Given the description of an element on the screen output the (x, y) to click on. 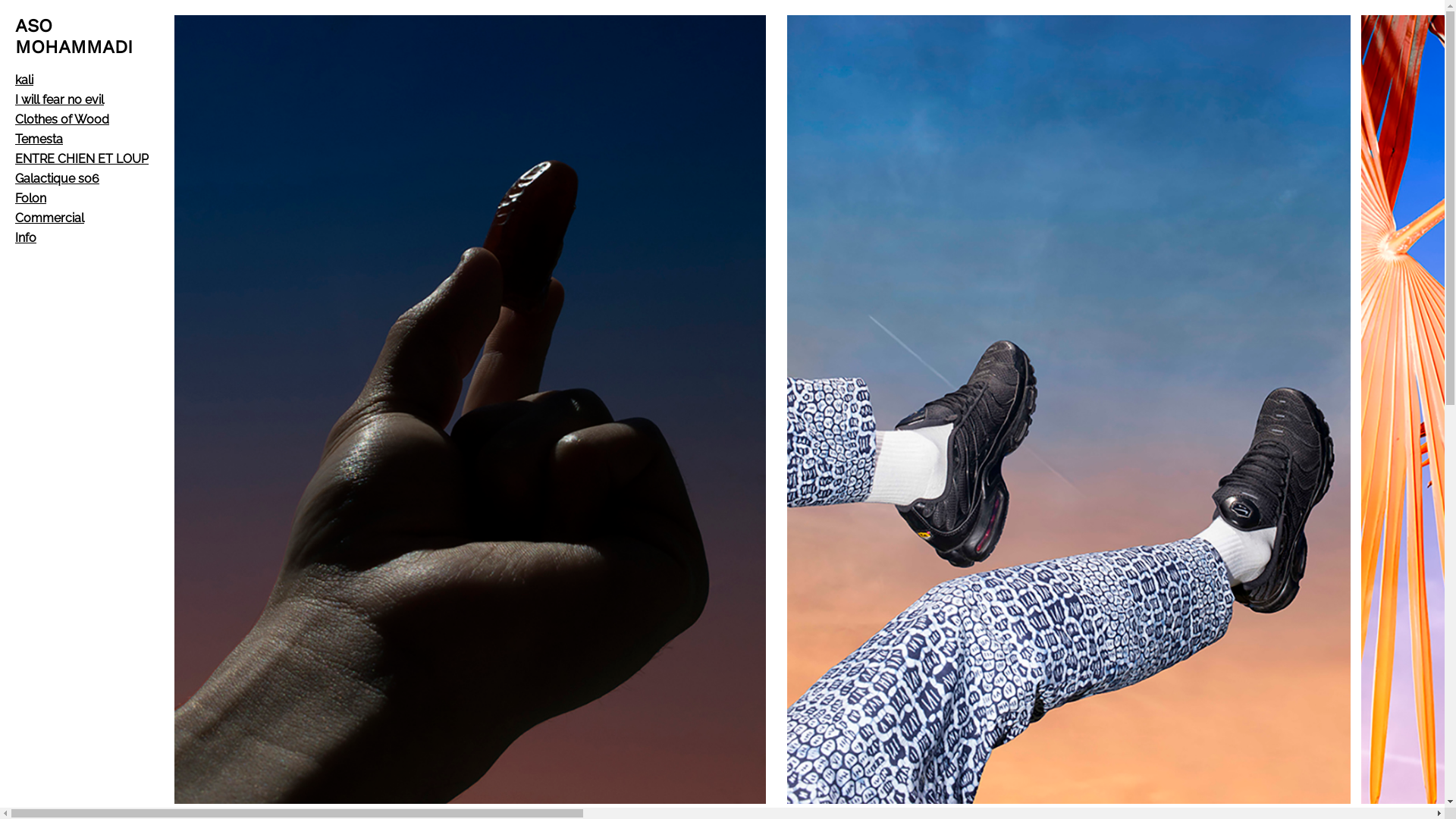
I will fear no evil Element type: text (59, 99)
ENTRE CHIEN ET LOUP Element type: text (81, 158)
Commercial Element type: text (49, 217)
kali Element type: text (24, 79)
ASO
MOHAMMADI Element type: text (73, 36)
Galactique so6 Element type: text (57, 178)
Temesta Element type: text (38, 138)
Info Element type: text (25, 237)
Folon Element type: text (30, 198)
Clothes of Wood Element type: text (62, 119)
